Given the description of an element on the screen output the (x, y) to click on. 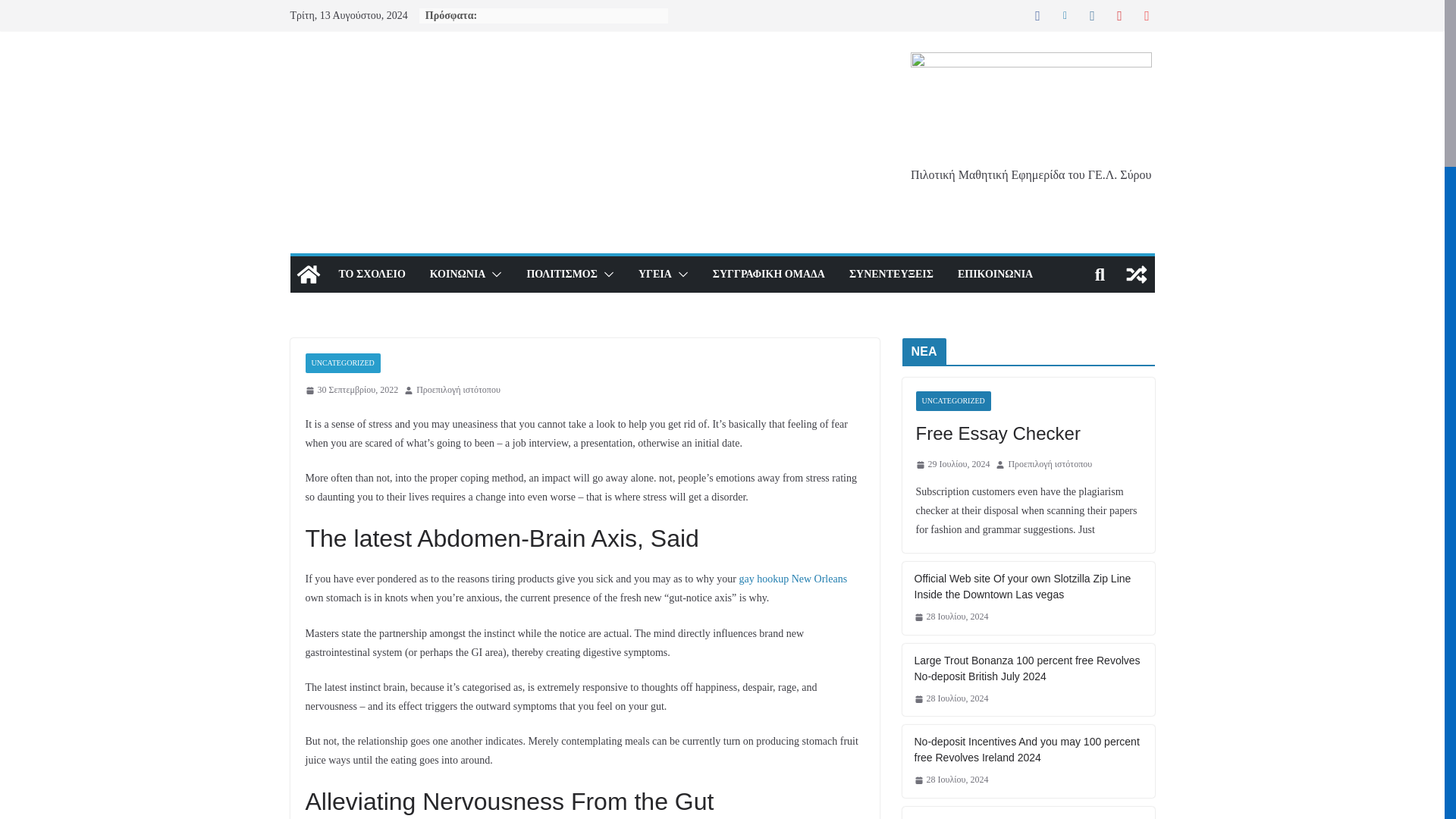
gay hookup New Orleans (792, 578)
typewriter-d (1031, 108)
UNCATEGORIZED (342, 362)
